Given the description of an element on the screen output the (x, y) to click on. 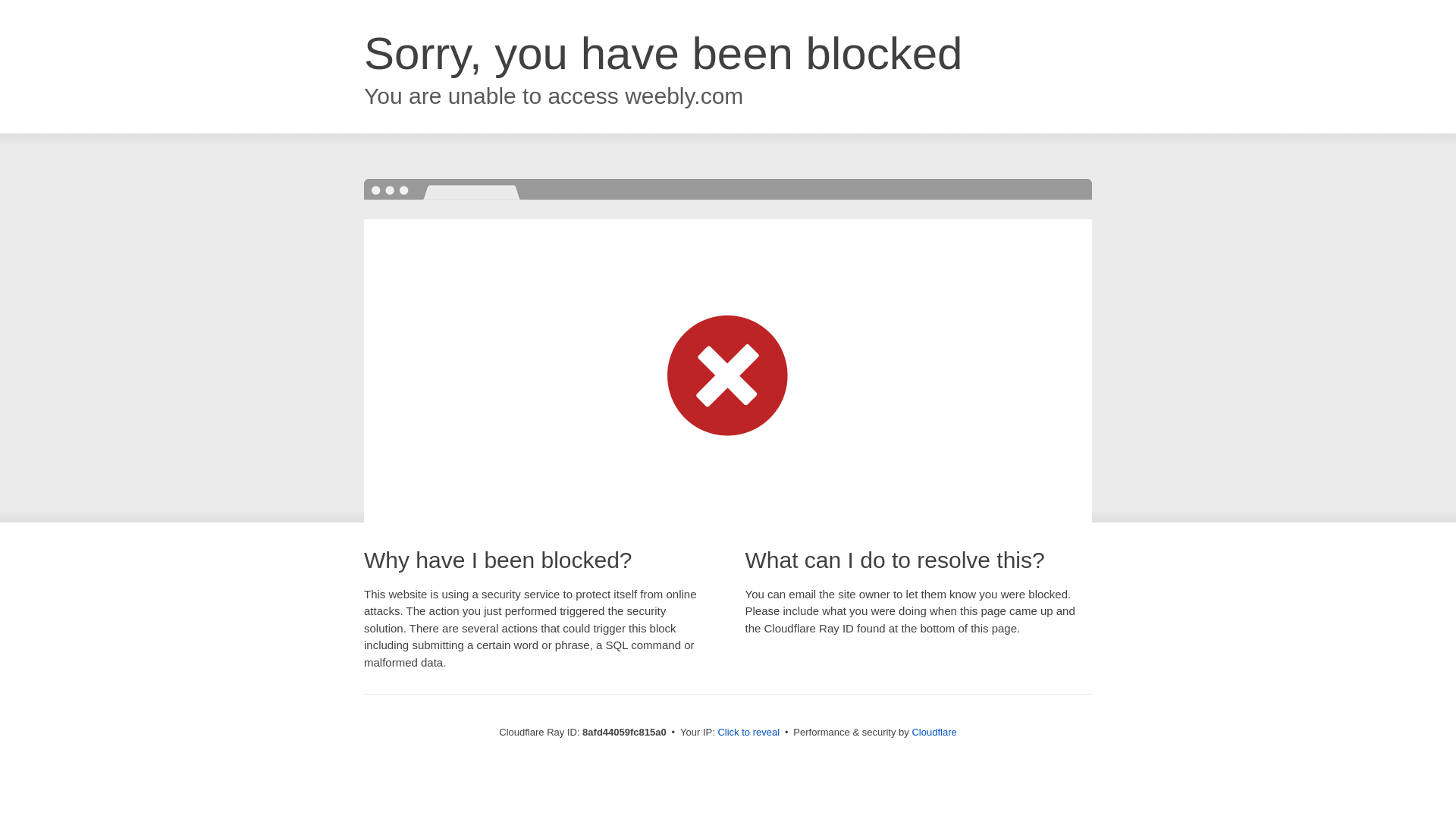
Click to reveal (747, 732)
Cloudflare (933, 731)
